Given the description of an element on the screen output the (x, y) to click on. 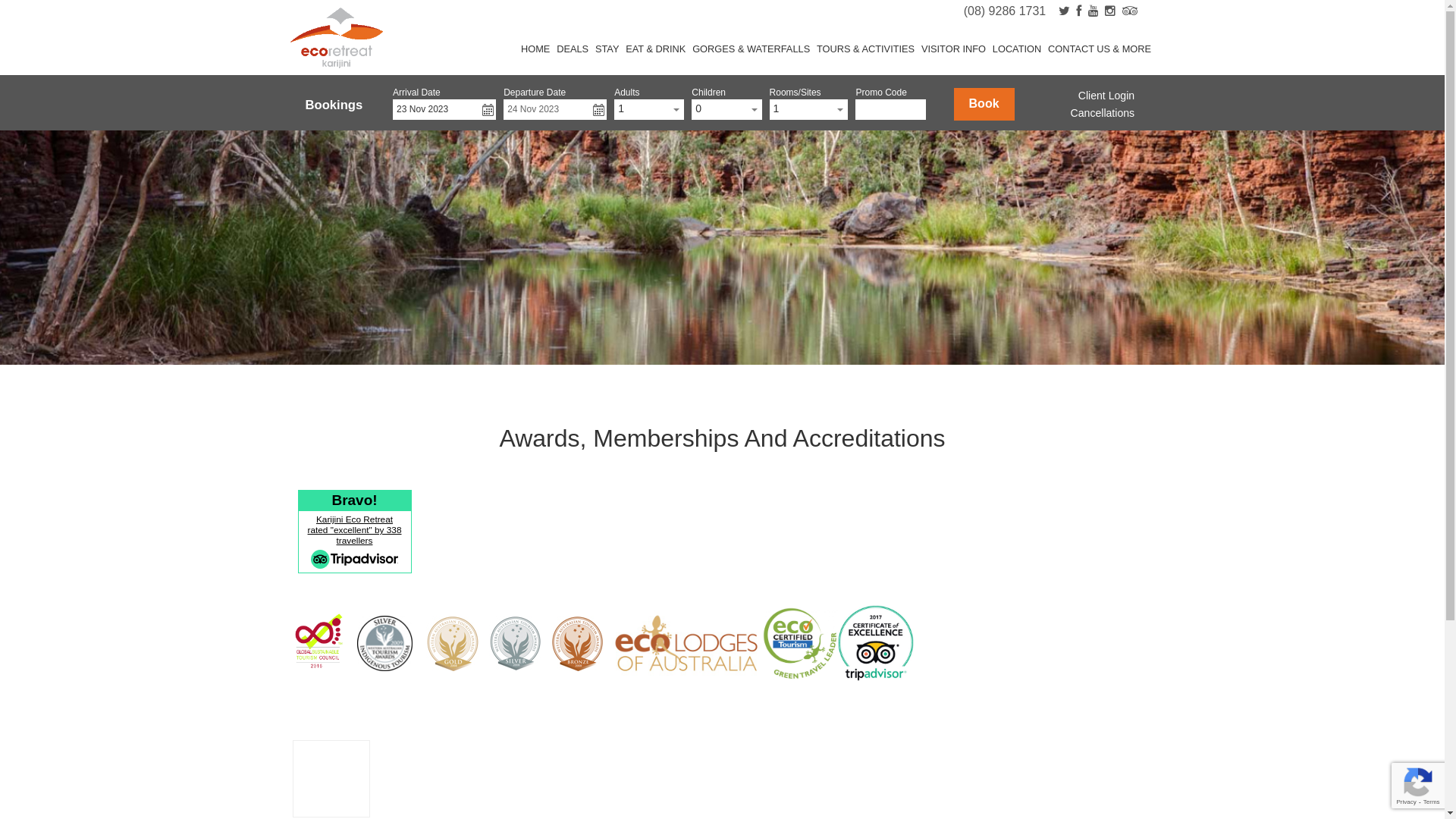
Client Login Element type: text (1106, 95)
Facebook Element type: hover (1078, 10)
STAY Element type: text (606, 48)
Karijini Eco Retreat rated "excellent" by 338 travellers Element type: text (354, 530)
HOME Element type: text (535, 48)
Cancellations Element type: text (1102, 112)
Twitter Element type: hover (1064, 10)
EAT & DRINK Element type: text (655, 48)
LOCATION Element type: text (1016, 48)
Instagram Element type: hover (1109, 10)
Book Element type: text (983, 103)
Youtube Element type: hover (1093, 10)
(08) 9286 1731 Element type: text (1004, 10)
TOURS & ACTIVITIES Element type: text (865, 48)
VISITOR INFO Element type: text (953, 48)
Tripadvisor Element type: hover (1130, 10)
GORGES & WATERFALLS Element type: text (751, 48)
CONTACT US & MORE Element type: text (1099, 48)
DEALS Element type: text (572, 48)
